Given the description of an element on the screen output the (x, y) to click on. 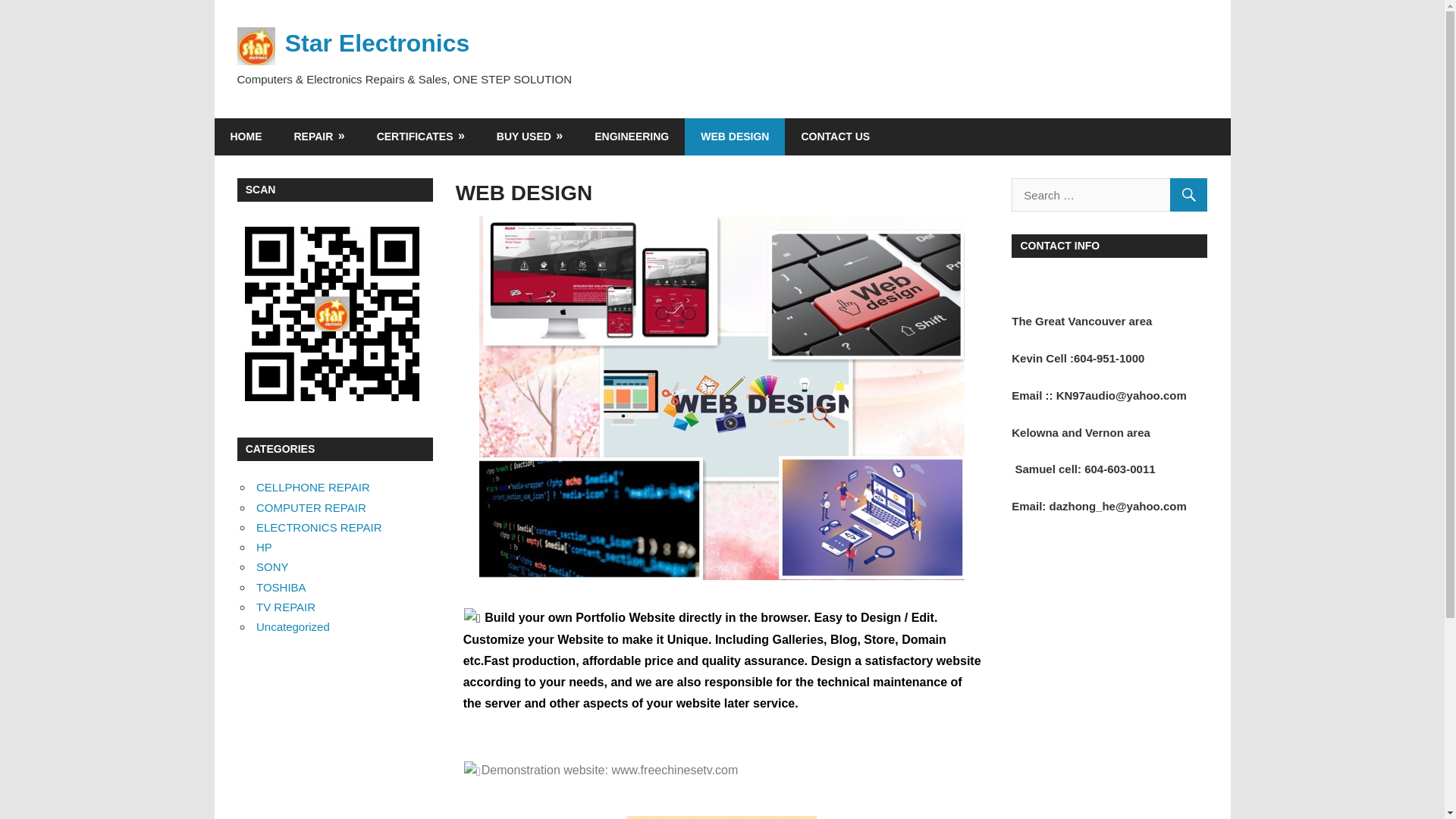
HP (264, 546)
BUY USED (529, 136)
TV REPAIR (285, 606)
SONY (272, 566)
CELLPHONE REPAIR (312, 486)
REPAIR (318, 136)
Uncategorized (293, 626)
TOSHIBA (280, 586)
Star Electronics (377, 42)
WEB DESIGN (734, 136)
